Given the description of an element on the screen output the (x, y) to click on. 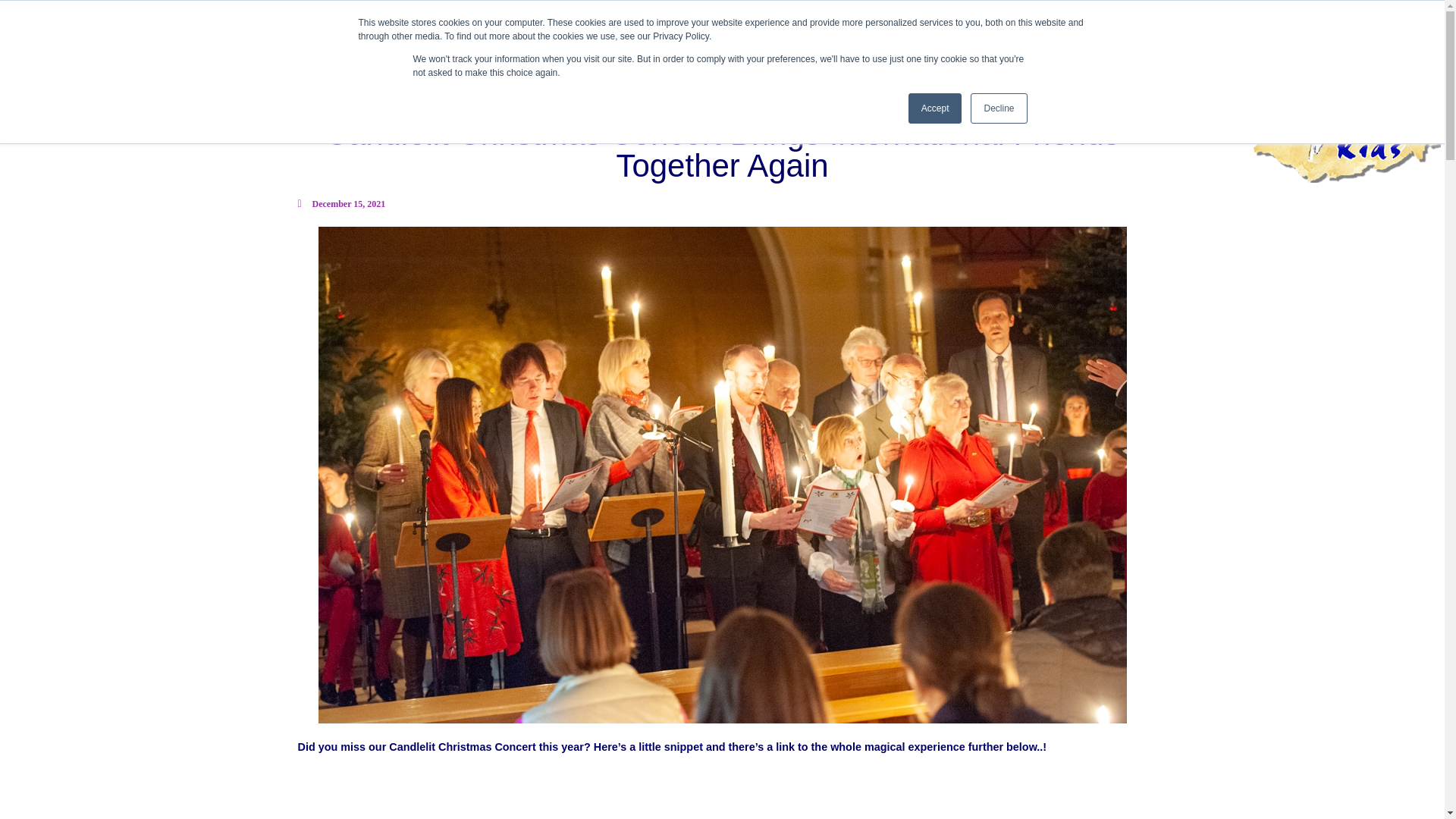
News (621, 26)
How You Can Help (471, 26)
Events (563, 26)
Accept (935, 108)
Our Projects (366, 26)
Home (223, 26)
Decline (998, 108)
About Us (283, 26)
